Given the description of an element on the screen output the (x, y) to click on. 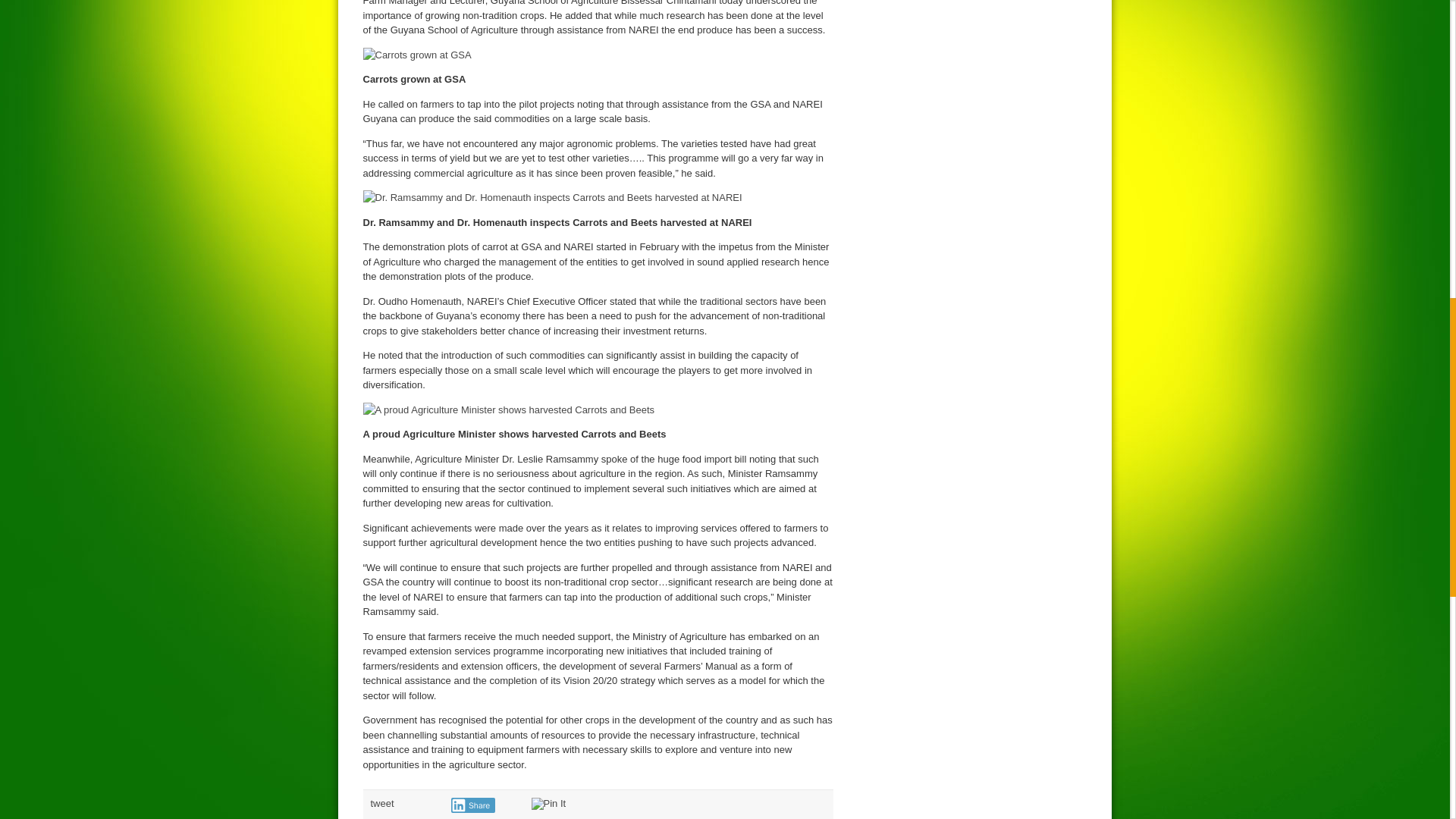
Pin It (548, 803)
tweet (381, 803)
